Given the description of an element on the screen output the (x, y) to click on. 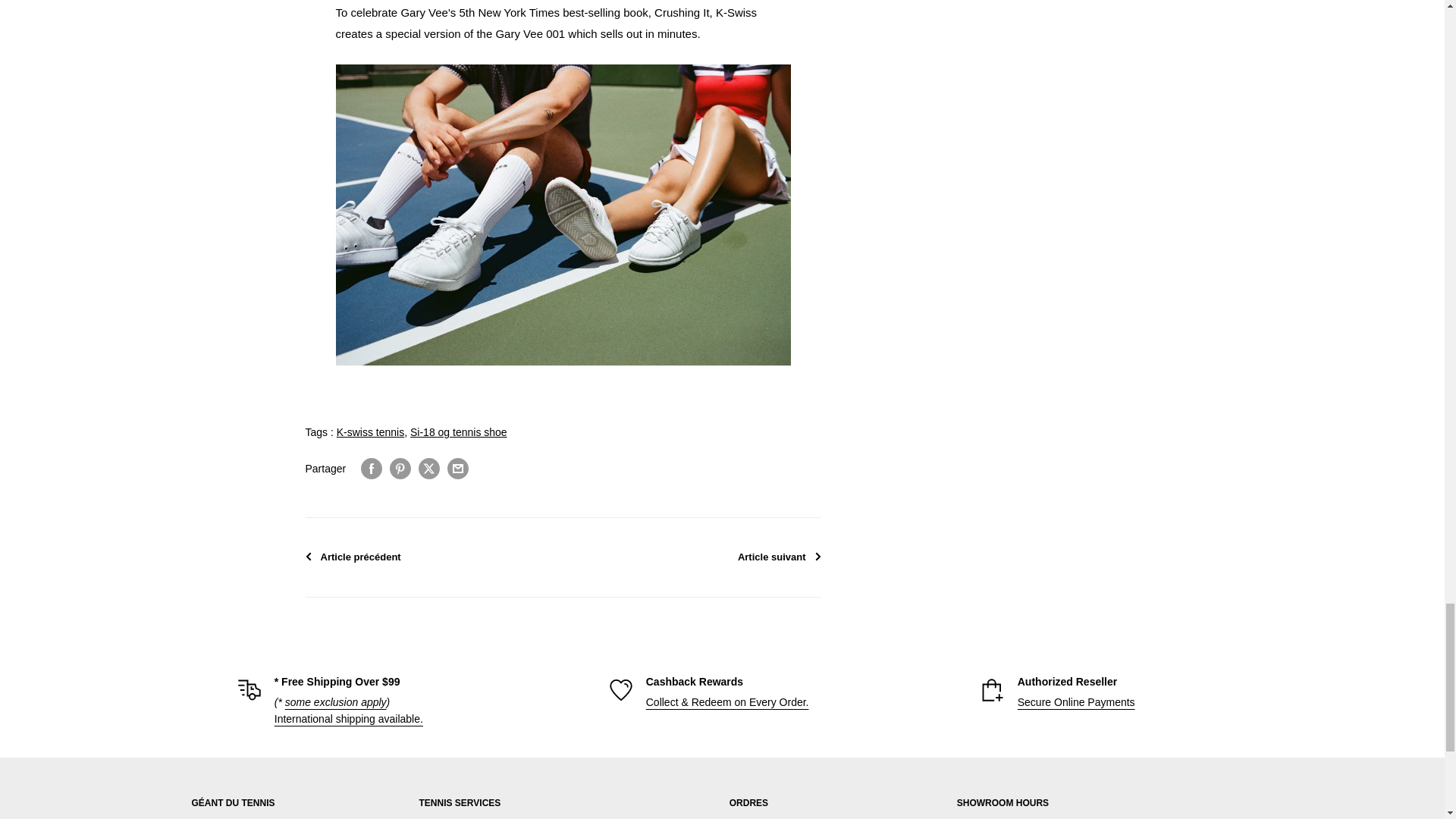
Shipping (349, 718)
About Us (1076, 702)
Shipping (336, 702)
